Given the description of an element on the screen output the (x, y) to click on. 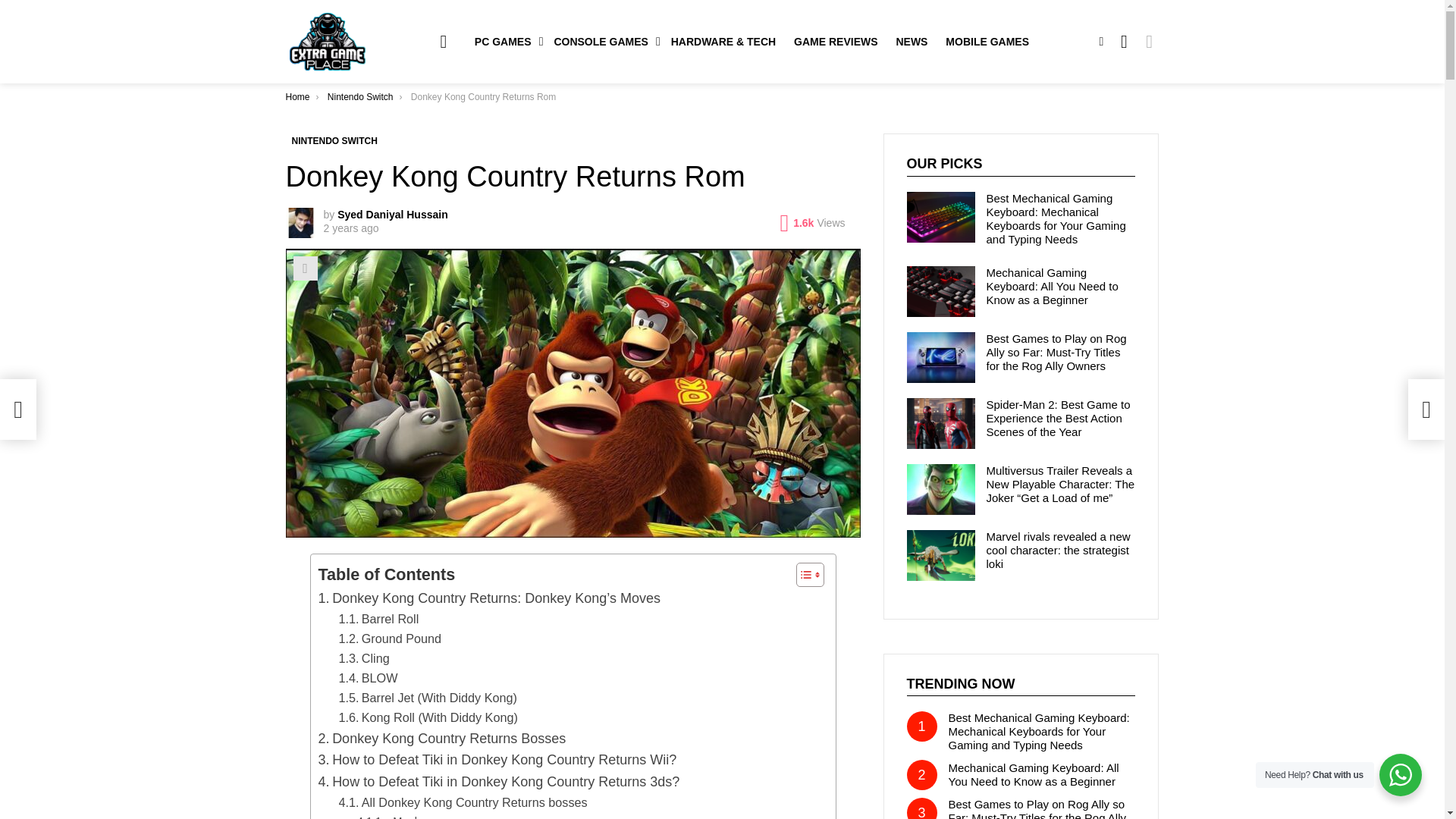
NEWS (911, 41)
Donkey Kong Country Returns Bosses (442, 739)
Barrel Roll (378, 619)
Posts by Syed Daniyal Hussain (392, 214)
PC GAMES (505, 41)
BLOW (367, 678)
Home (296, 96)
GAME REVIEWS (835, 41)
Ground Pound (389, 639)
MOBILE GAMES (986, 41)
Menu (442, 41)
November 12, 2022, 4:35 am (350, 228)
CONSOLE GAMES (602, 41)
Cling (362, 659)
